Given the description of an element on the screen output the (x, y) to click on. 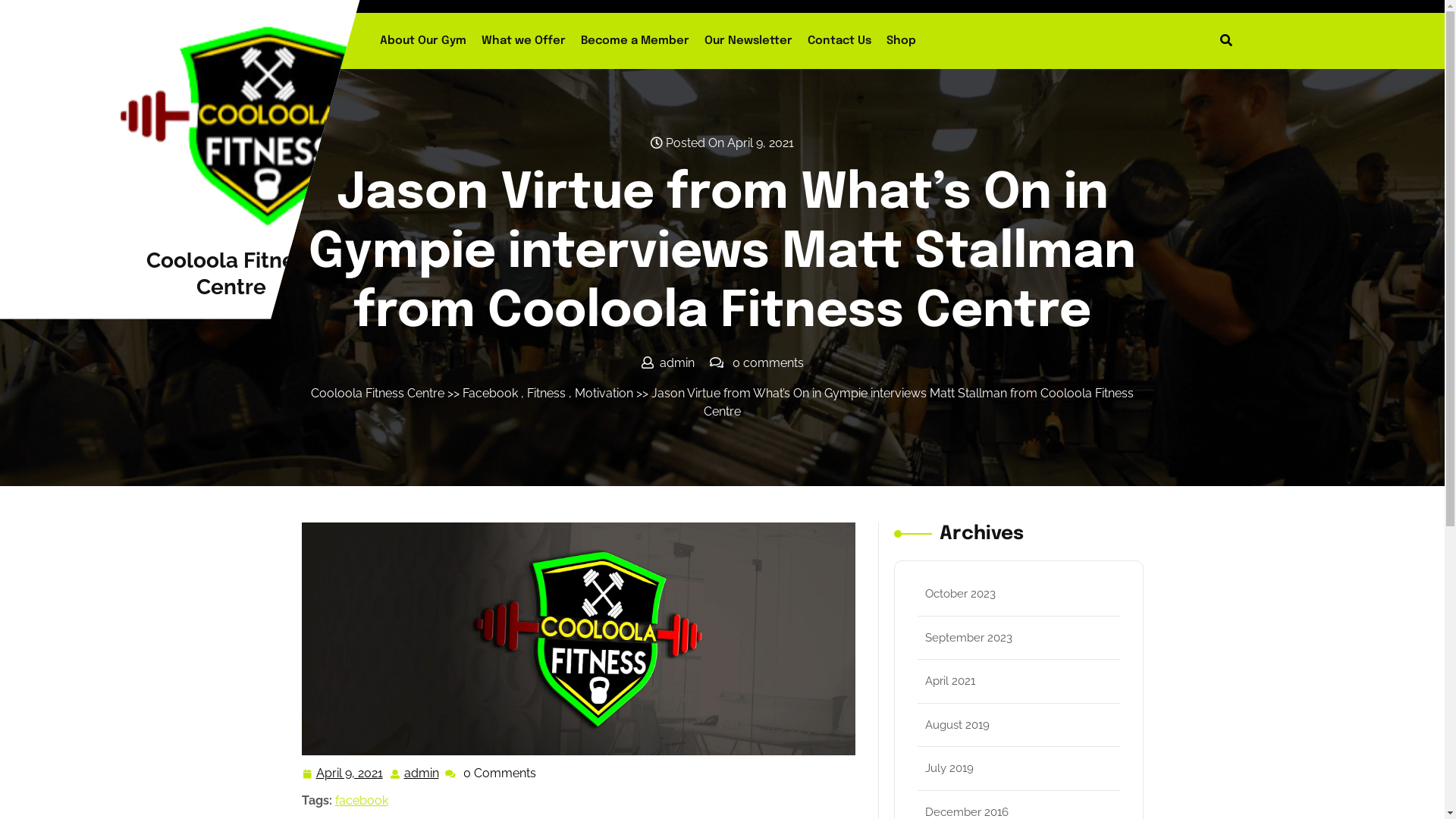
Fitness Element type: text (546, 392)
Cooloola Fitness Centre Element type: text (231, 272)
April 2021 Element type: text (950, 680)
About Our Gym Element type: text (422, 40)
Become a Member Element type: text (634, 40)
admin Element type: text (420, 773)
What we Offer Element type: text (523, 40)
Motivation Element type: text (603, 392)
Facebook Element type: text (489, 392)
facebook Element type: text (361, 800)
Cooloola Fitness Centre Element type: text (377, 392)
July 2019 Element type: text (949, 768)
September 2023 Element type: text (968, 637)
October 2023 Element type: text (960, 593)
Shop Element type: text (900, 40)
Our Newsletter Element type: text (748, 40)
August 2019 Element type: text (957, 724)
Contact Us Element type: text (839, 40)
April 9, 2021 Element type: text (348, 773)
